Given the description of an element on the screen output the (x, y) to click on. 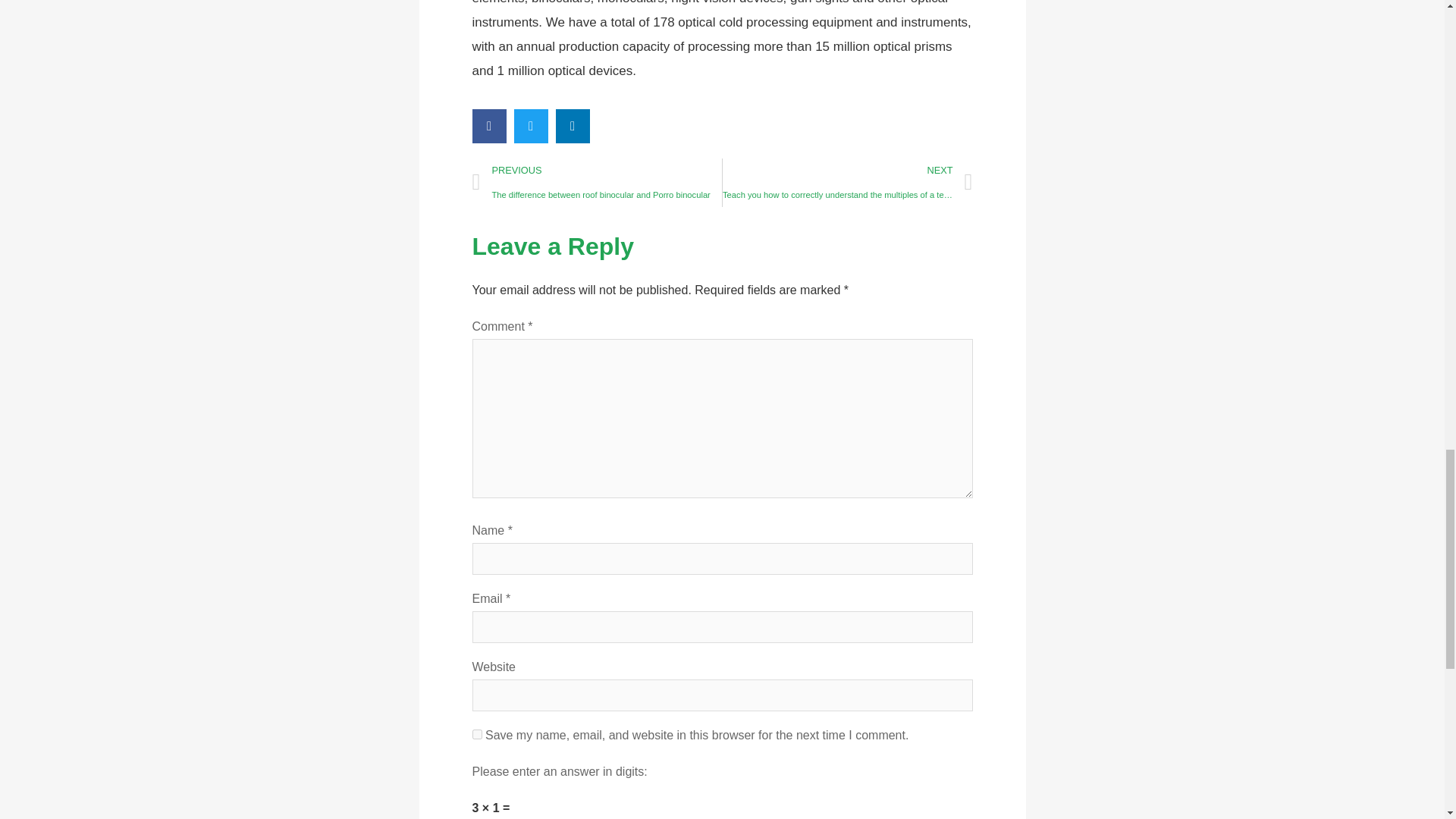
yes (476, 734)
